Given the description of an element on the screen output the (x, y) to click on. 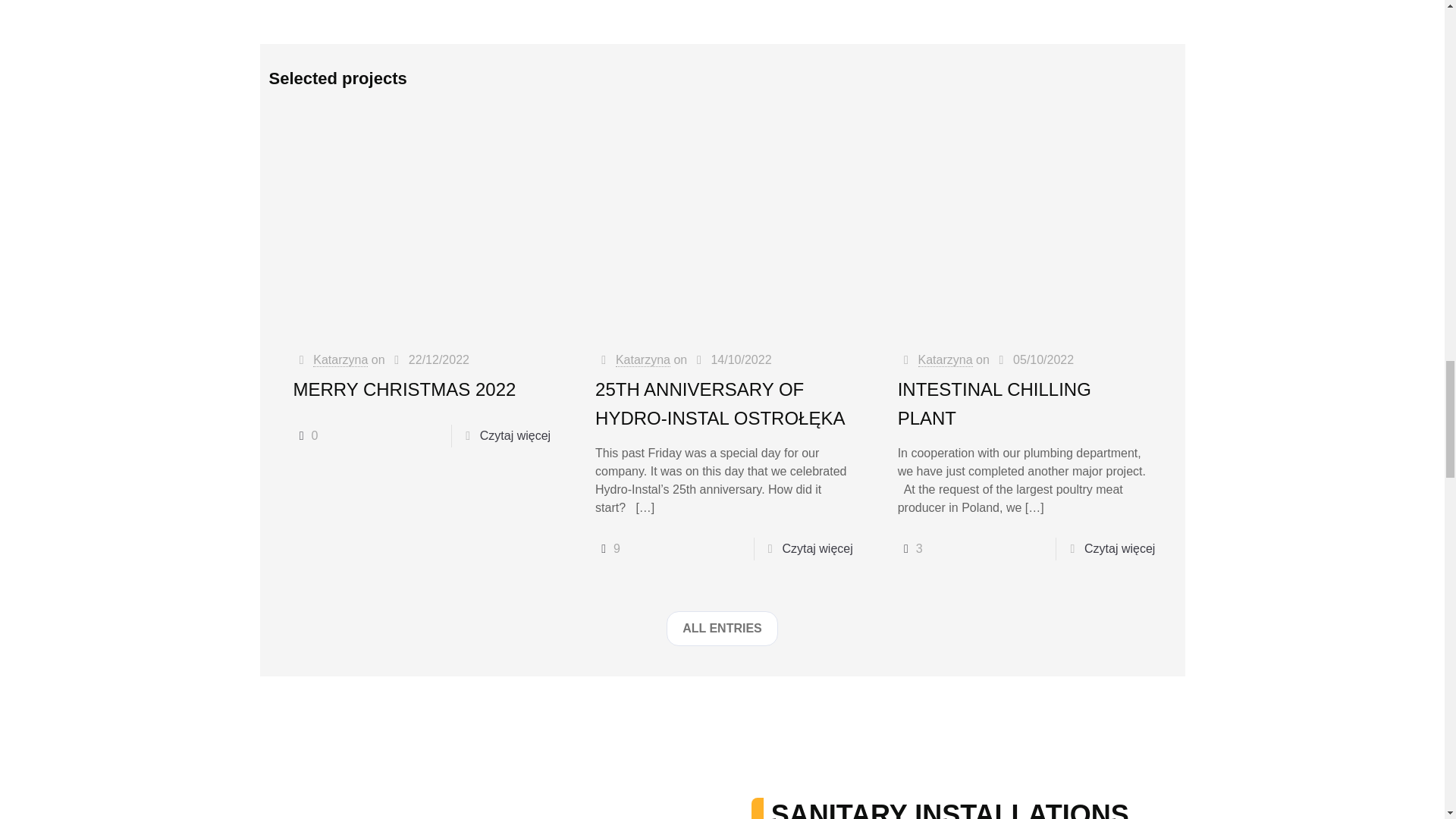
Merry Christmas 2022 2 (420, 224)
Intestinal Chilling Plant 6 (1024, 224)
